Given the description of an element on the screen output the (x, y) to click on. 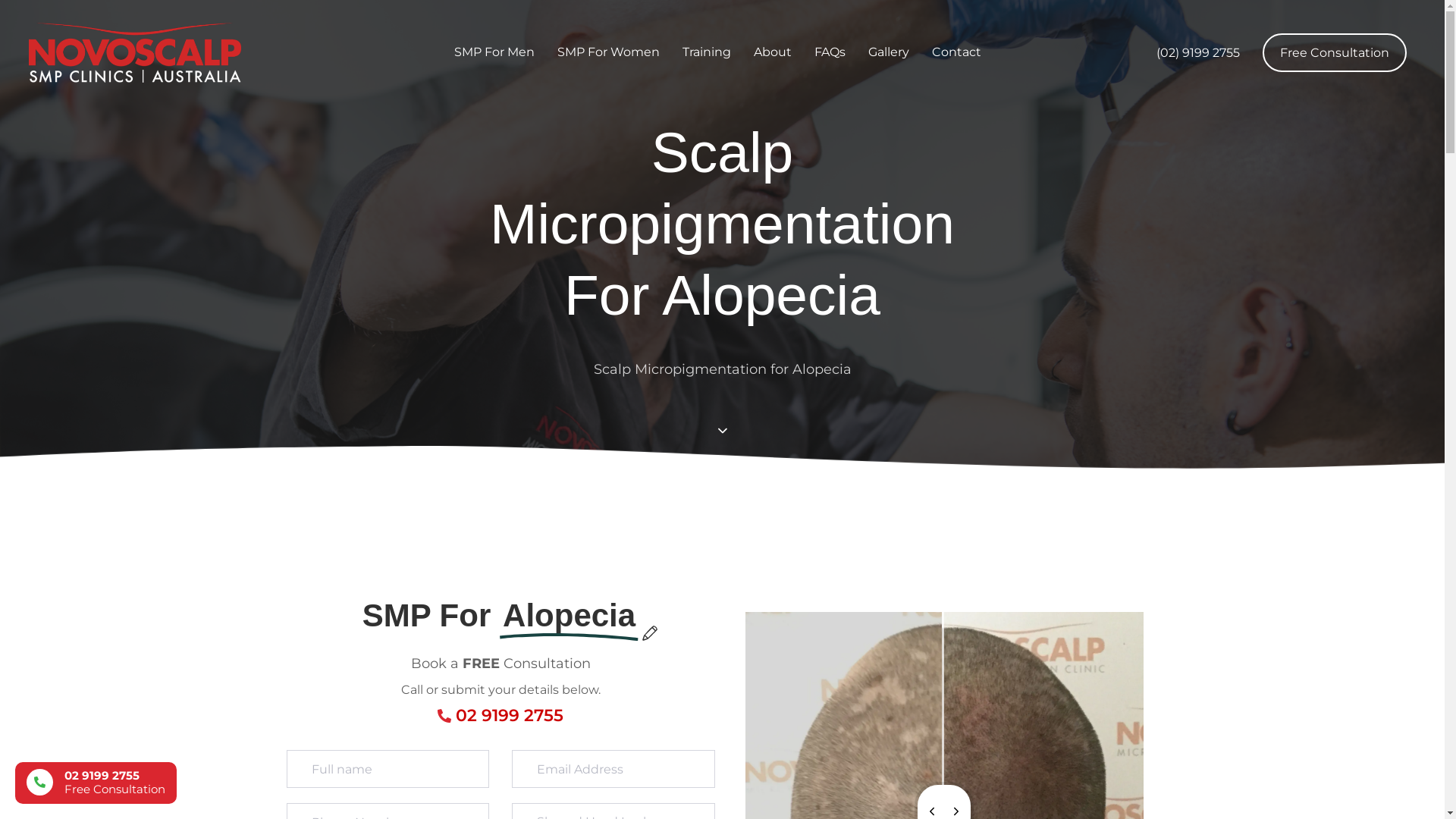
About Element type: text (772, 52)
FAQs Element type: text (829, 52)
Free Consultation Element type: text (1334, 52)
Training Element type: text (706, 52)
Gallery Element type: text (888, 52)
SMP For Men Element type: text (494, 52)
Contact Element type: text (956, 52)
02 9199 2755
Free Consultation Element type: text (95, 782)
SMP For Women Element type: text (608, 52)
(02) 9199 2755 Element type: text (1197, 52)
02 9199 2755 Element type: text (509, 715)
